Given the description of an element on the screen output the (x, y) to click on. 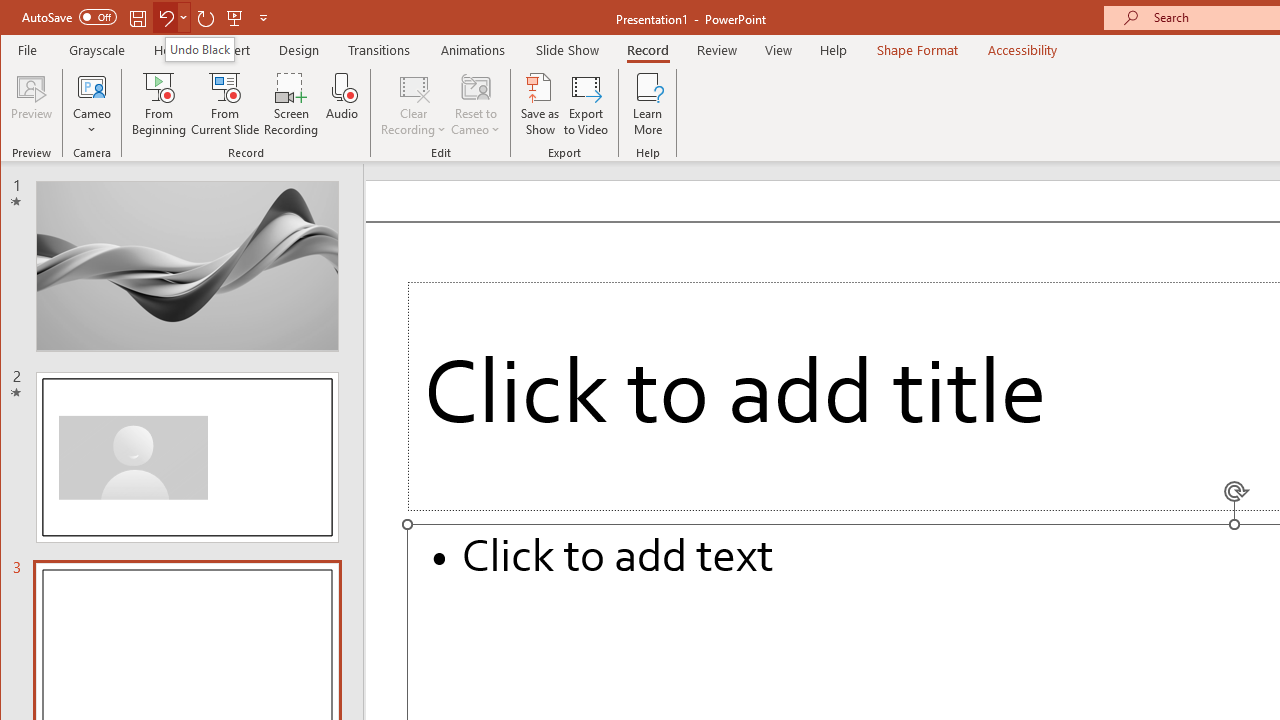
Slide (187, 457)
Audio (342, 104)
Cameo (91, 86)
Save as Show (539, 104)
Cameo (91, 104)
